Given the description of an element on the screen output the (x, y) to click on. 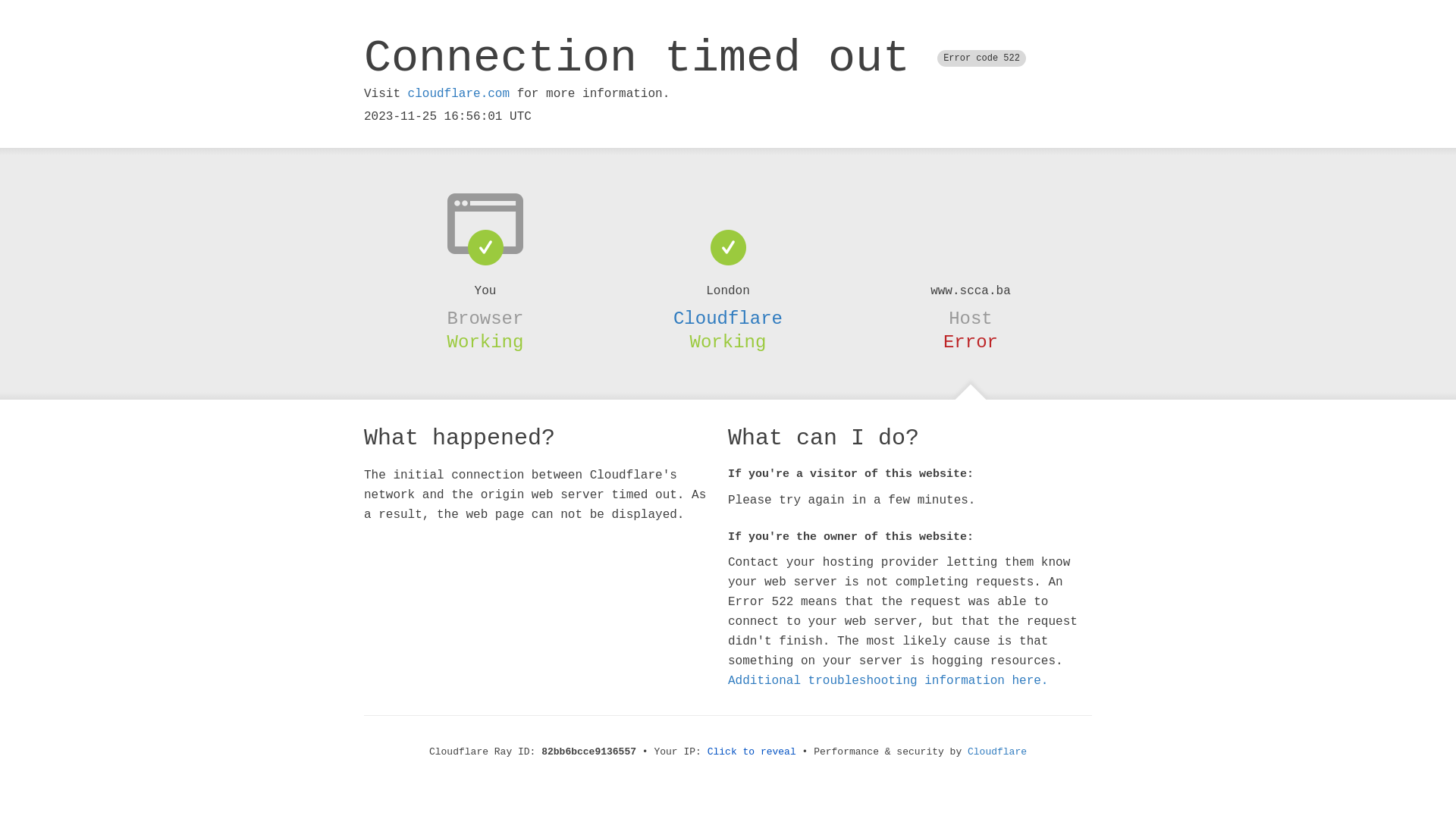
Additional troubleshooting information here. Element type: text (888, 680)
Cloudflare Element type: text (727, 318)
cloudflare.com Element type: text (458, 93)
Click to reveal Element type: text (751, 751)
Cloudflare Element type: text (996, 751)
